Given the description of an element on the screen output the (x, y) to click on. 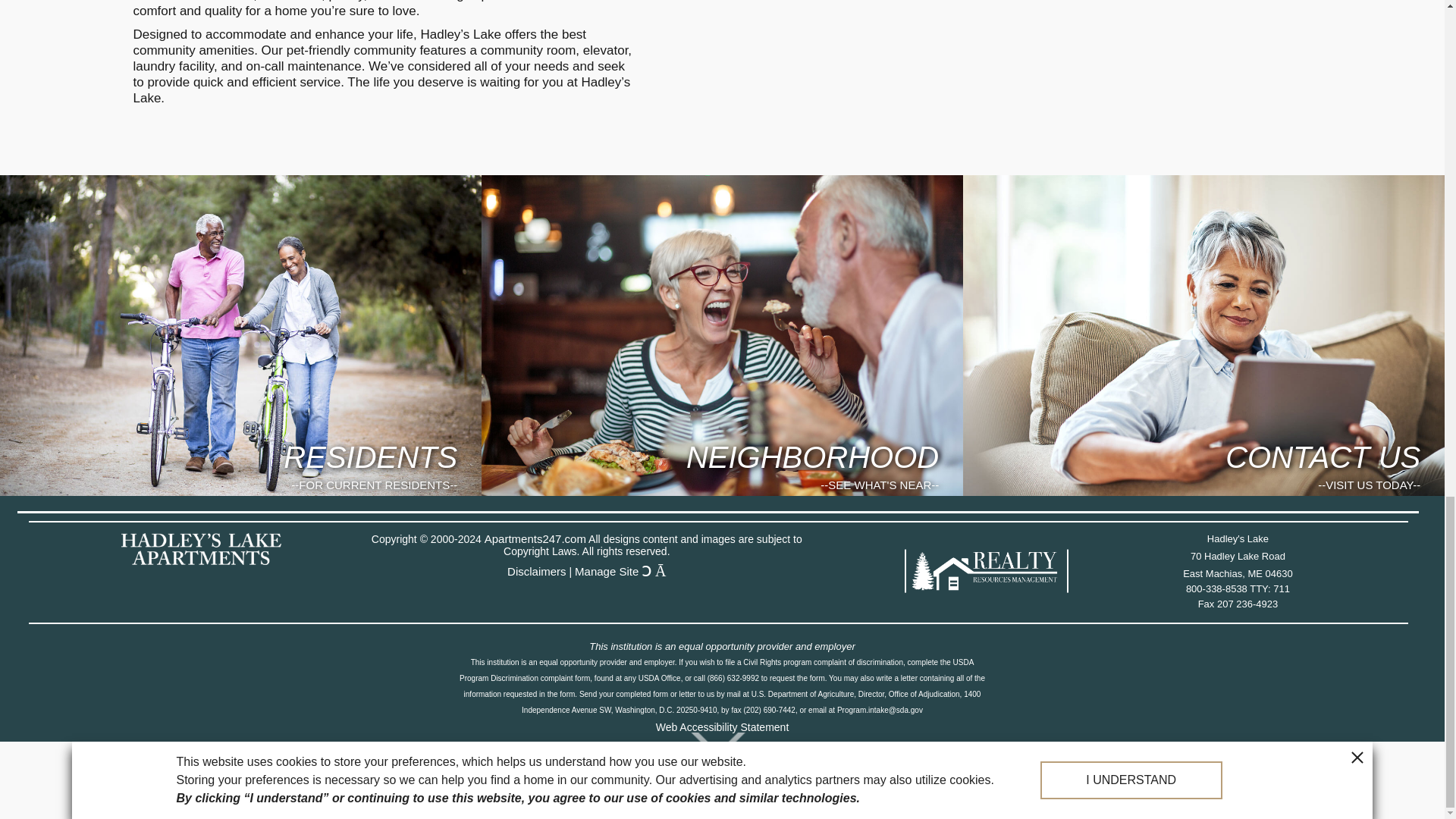
Disclaimers (536, 571)
Manage Site (607, 571)
Apartments247.com (535, 539)
Manage Site (1238, 589)
